Given the description of an element on the screen output the (x, y) to click on. 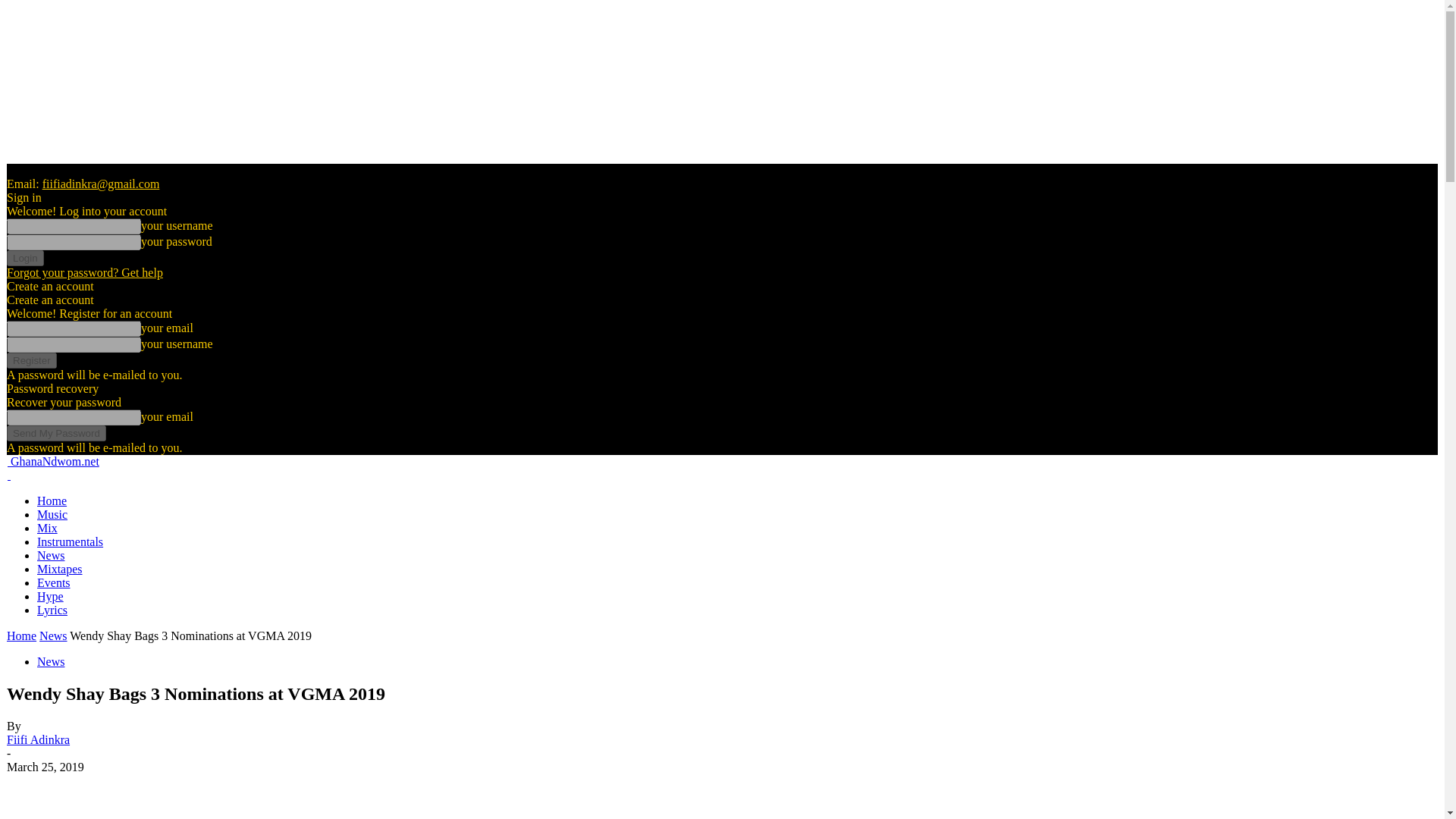
News (52, 635)
News (50, 661)
Login (25, 258)
Send My Password (56, 433)
GhanaNdwom.net (53, 461)
News (50, 554)
Mixtapes (59, 568)
Events (53, 582)
Register (31, 360)
Forgot your password? Get help (85, 272)
Home (21, 635)
Mix (47, 527)
View all posts in News (52, 635)
Instrumentals (70, 541)
Home (51, 500)
